Given the description of an element on the screen output the (x, y) to click on. 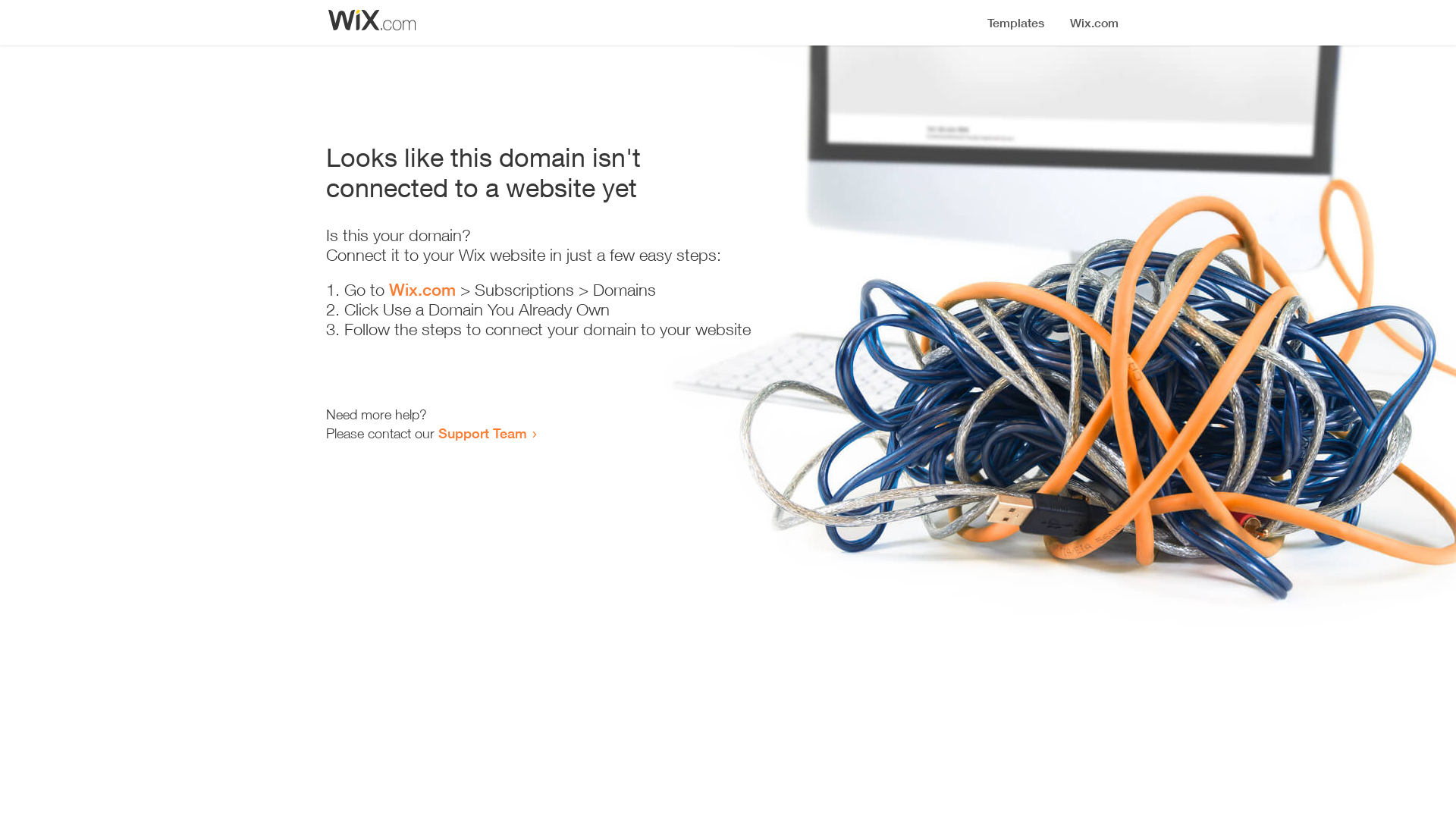
Support Team Element type: text (482, 432)
Wix.com Element type: text (422, 289)
